Given the description of an element on the screen output the (x, y) to click on. 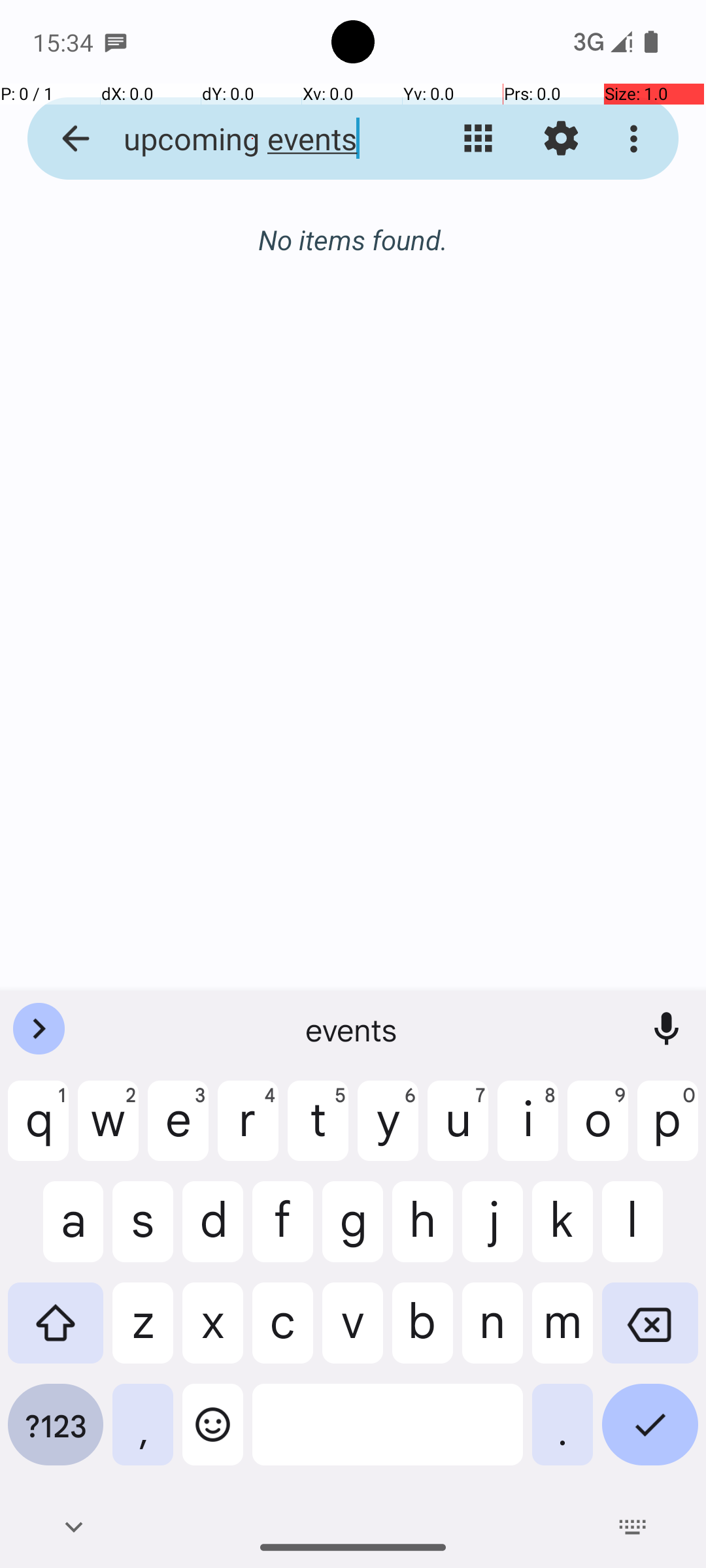
upcoming events Element type: android.widget.EditText (252, 138)
events Element type: android.widget.FrameLayout (352, 1028)
